Given the description of an element on the screen output the (x, y) to click on. 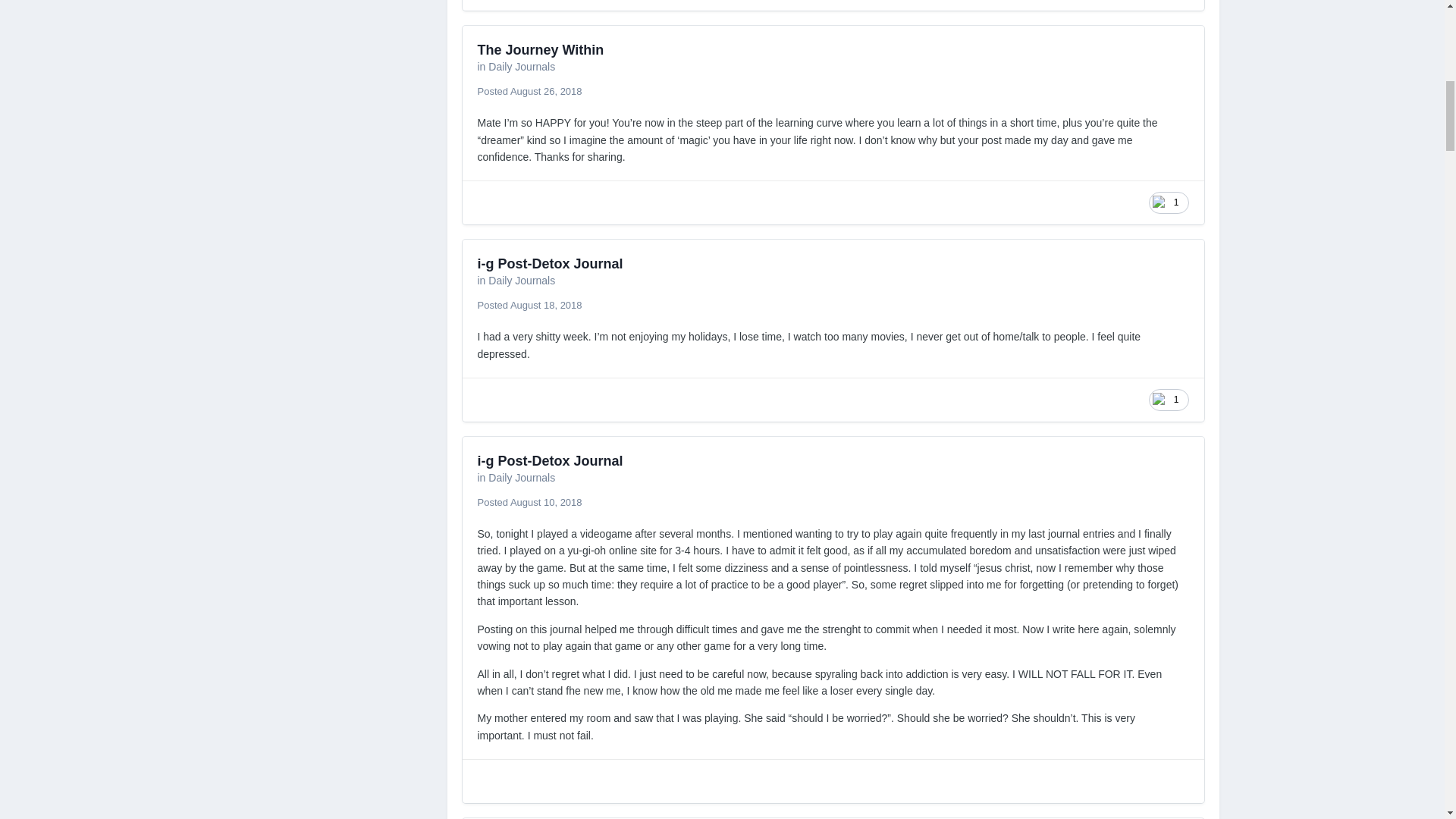
View the topic i-g Post-Detox Journal (550, 263)
View the topic The Journey Within (540, 49)
Like (1168, 202)
